Given the description of an element on the screen output the (x, y) to click on. 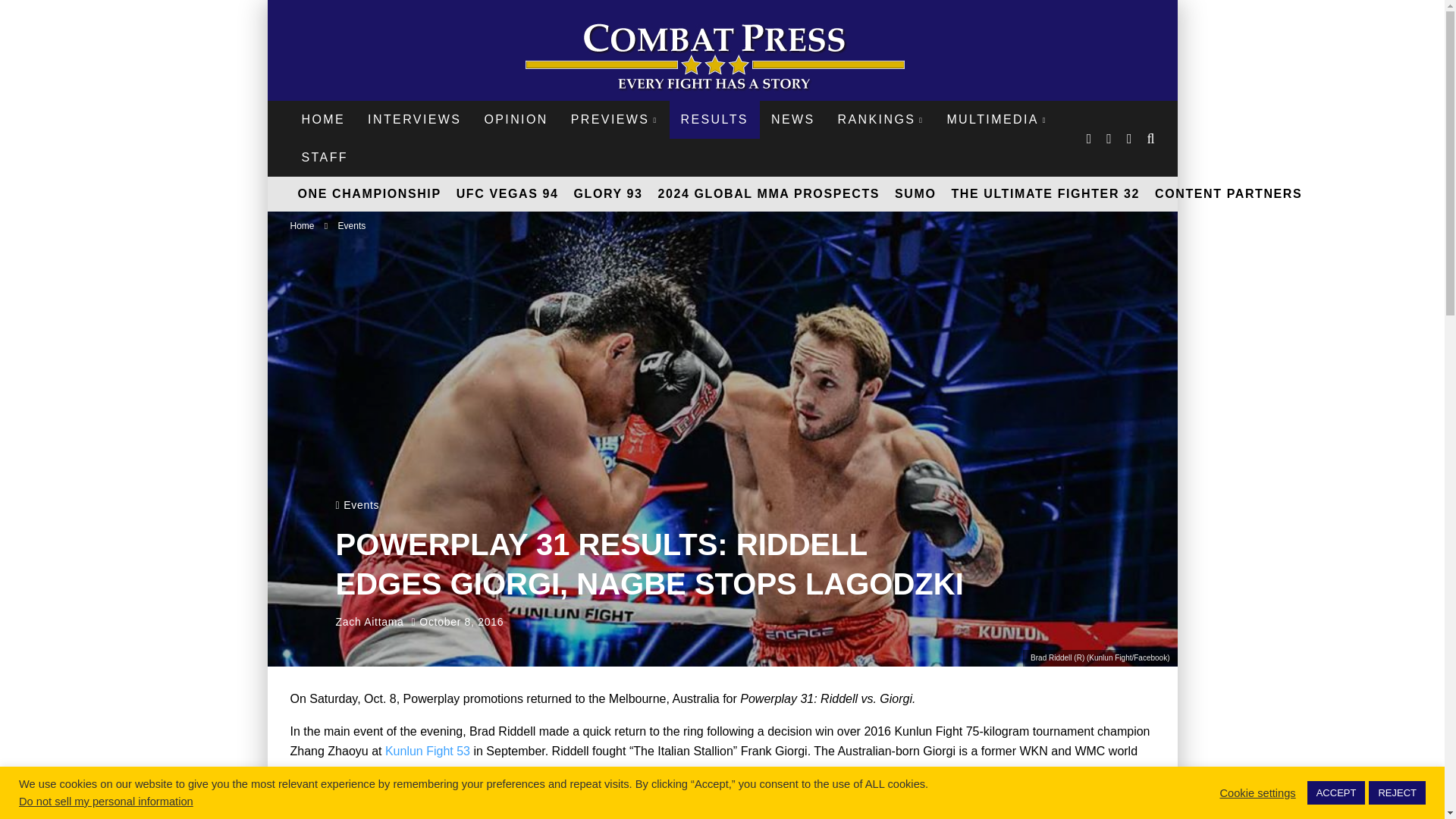
Posts by Zach Aittama (368, 621)
OPINION (515, 119)
INTERVIEWS (413, 119)
HOME (322, 119)
